Given the description of an element on the screen output the (x, y) to click on. 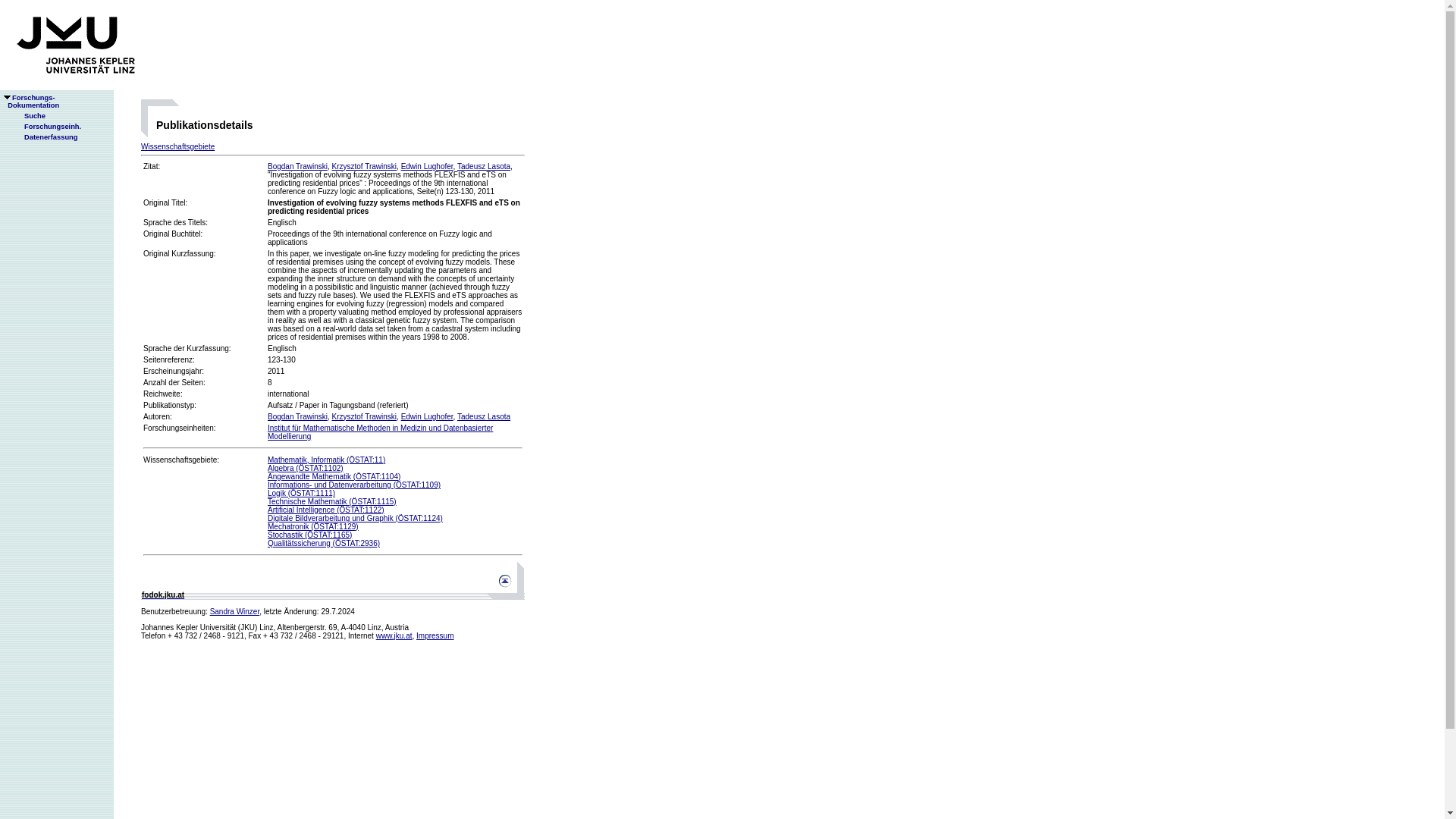
Wissenschaftsgebiete: (180, 459)
Bogdan Trawinski (297, 166)
Forschungseinh. (46, 126)
Datenerfassung (44, 136)
Tadeusz Lasota (484, 416)
Krzysztof Trawinski (364, 416)
Wissenschaftsgebiete (177, 146)
Tadeusz Lasota (484, 166)
Suche (28, 115)
Edwin Lughofer (426, 416)
Sandra Winzer (234, 611)
Bogdan Trawinski (297, 416)
Krzysztof Trawinski (29, 101)
fodok.jku.at (364, 166)
